Given the description of an element on the screen output the (x, y) to click on. 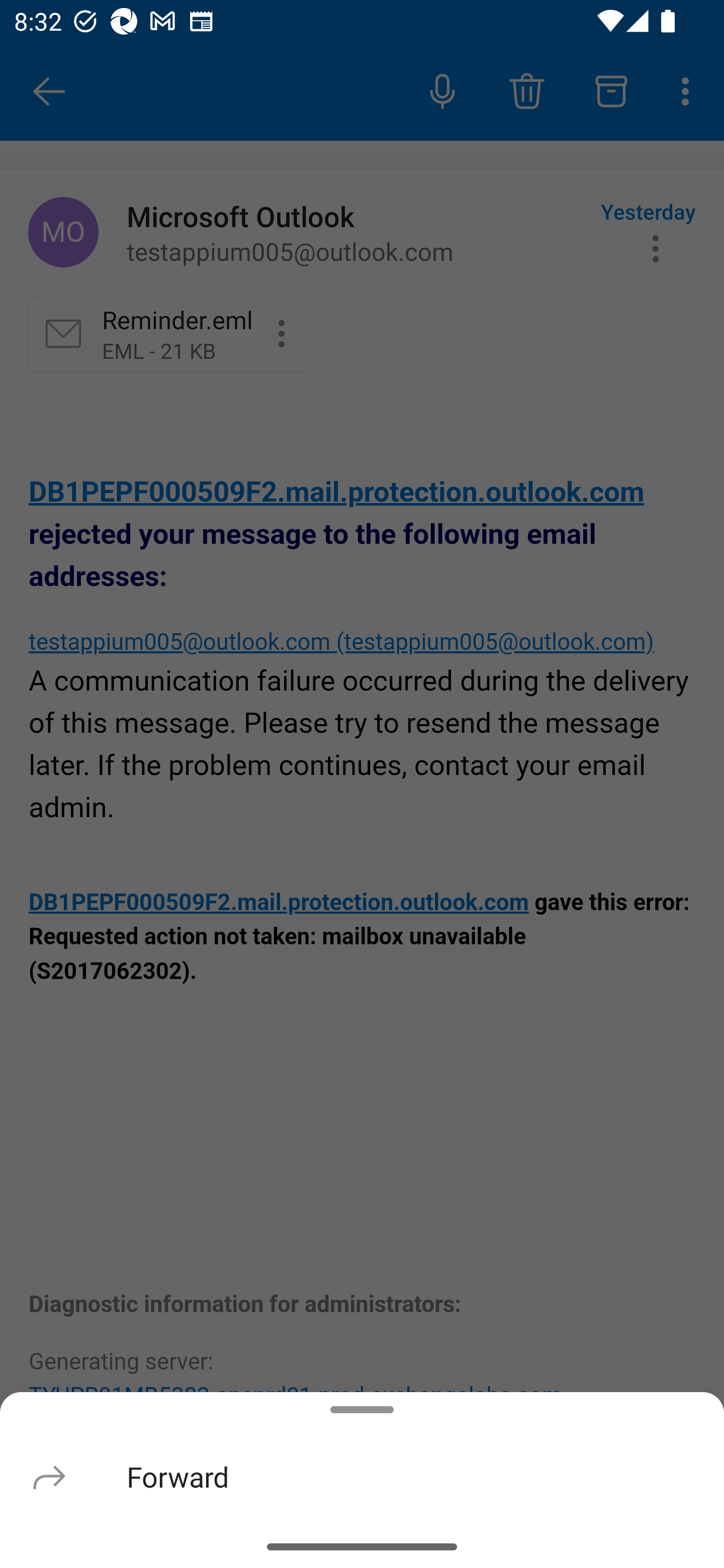
Forward (362, 1475)
